Given the description of an element on the screen output the (x, y) to click on. 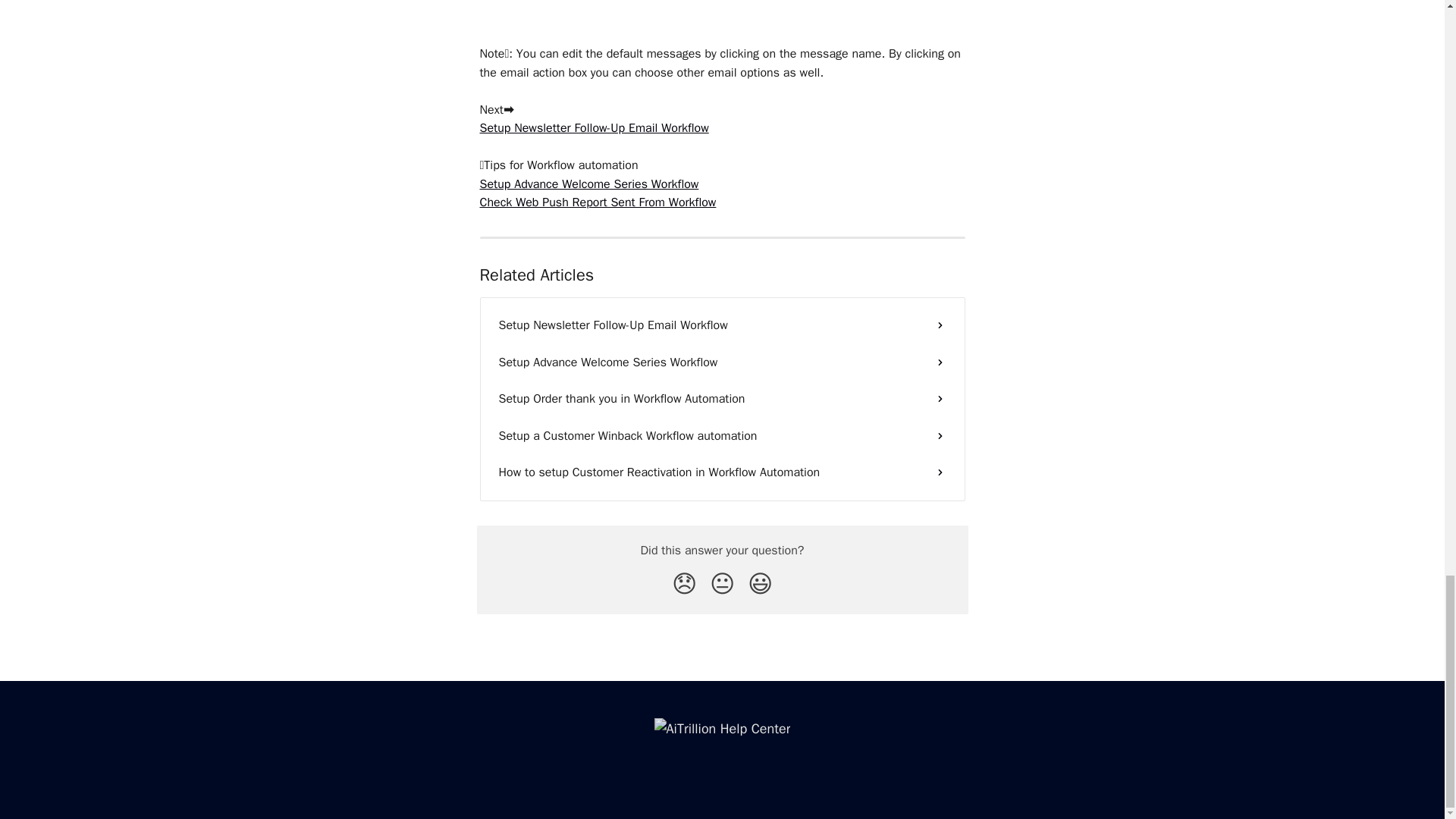
Setup Order thank you in Workflow Automation (722, 398)
How to setup Customer Reactivation in Workflow Automation (722, 472)
Setup Newsletter Follow-Up Email Workflow (593, 127)
Setup Advance Welcome Series Workflow (722, 361)
Check Web Push Report Sent From Workflow (597, 201)
Setup Advance Welcome Series Workflow (588, 183)
Setup a Customer Winback Workflow automation (722, 435)
Setup Newsletter Follow-Up Email Workflow (722, 325)
